Given the description of an element on the screen output the (x, y) to click on. 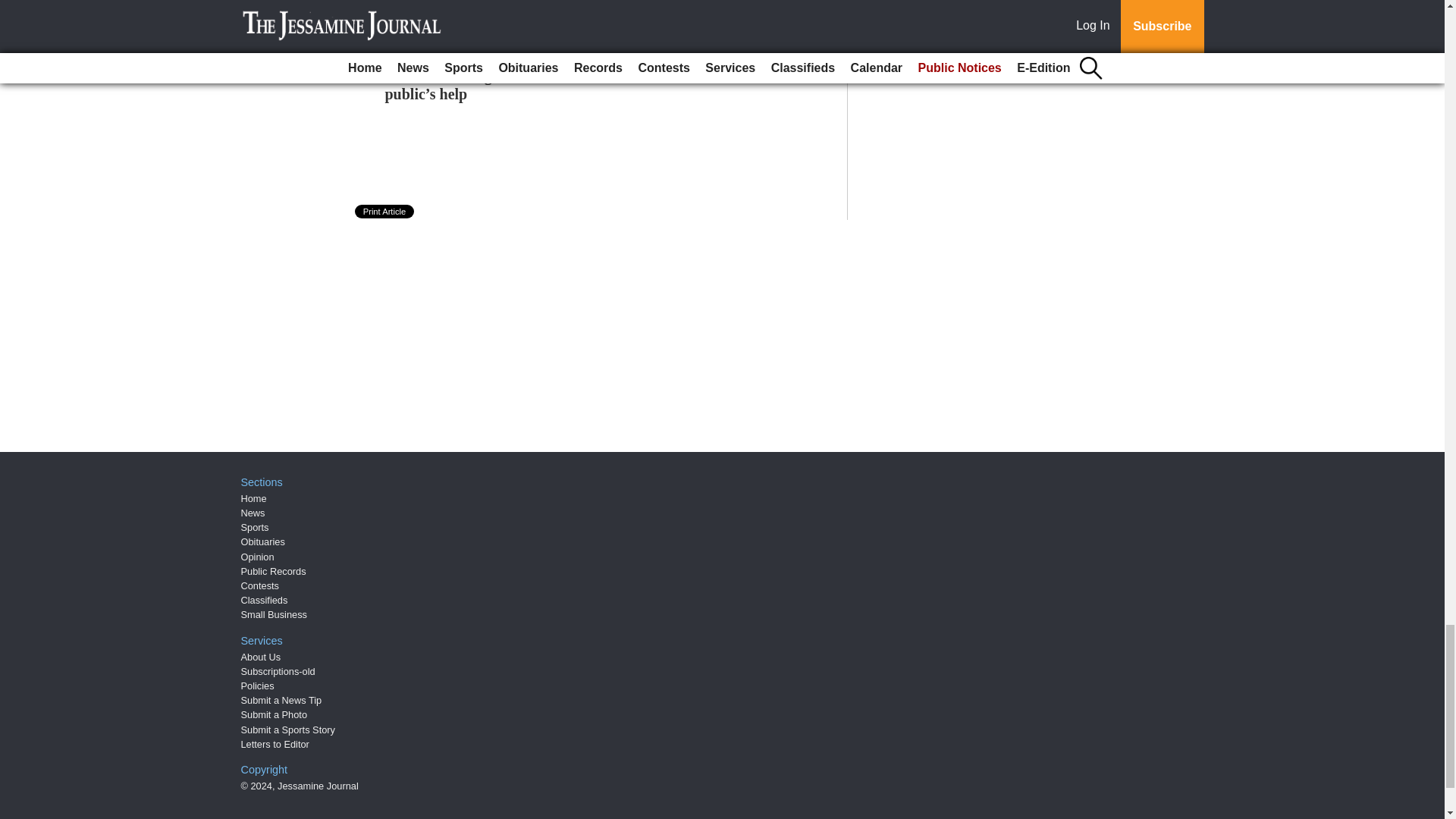
News (252, 512)
Home (253, 498)
Print Article (384, 211)
